Given the description of an element on the screen output the (x, y) to click on. 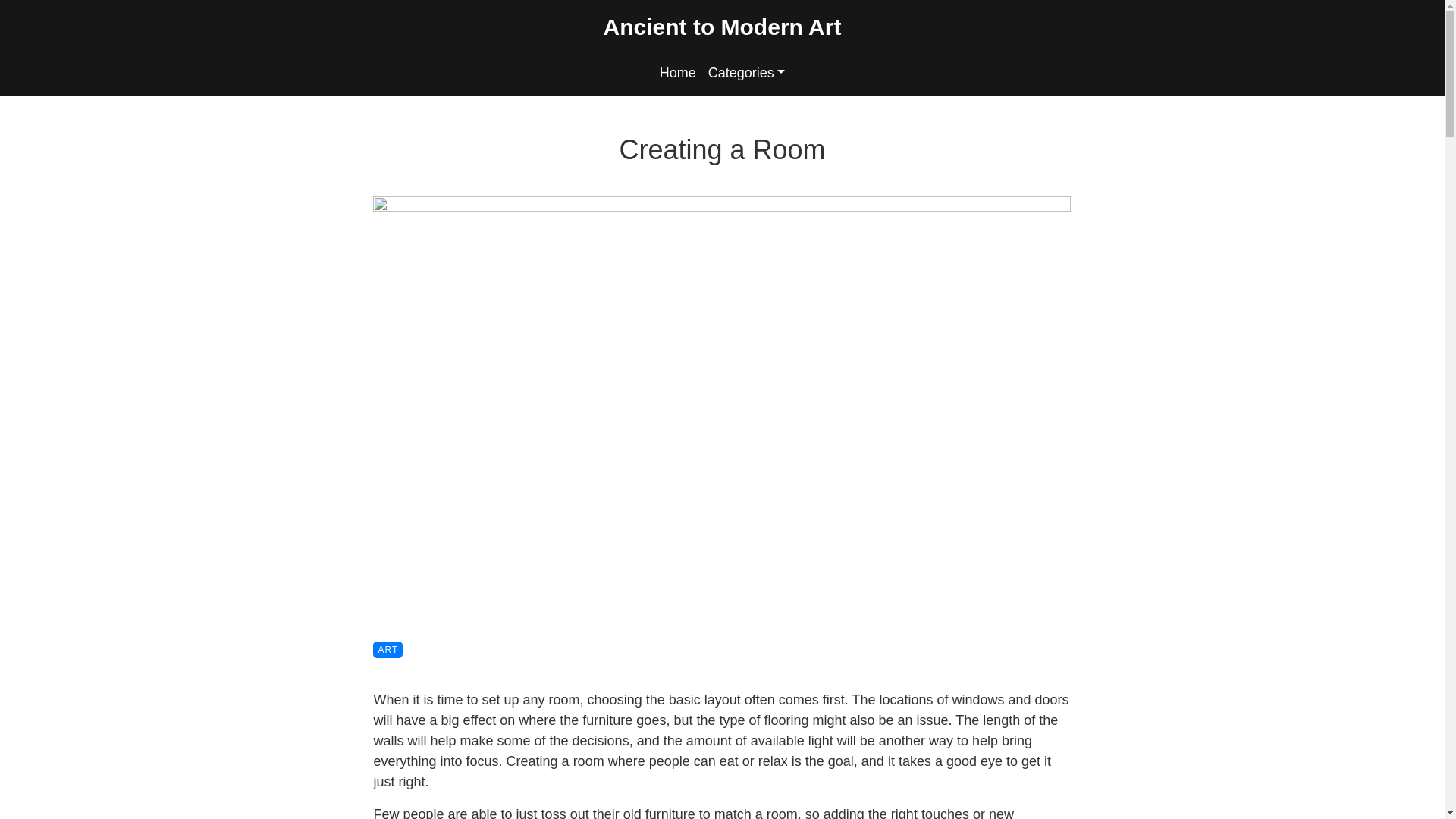
Ancient to Modern Art (722, 26)
ART (387, 649)
Home (677, 72)
Categories (746, 72)
